Given the description of an element on the screen output the (x, y) to click on. 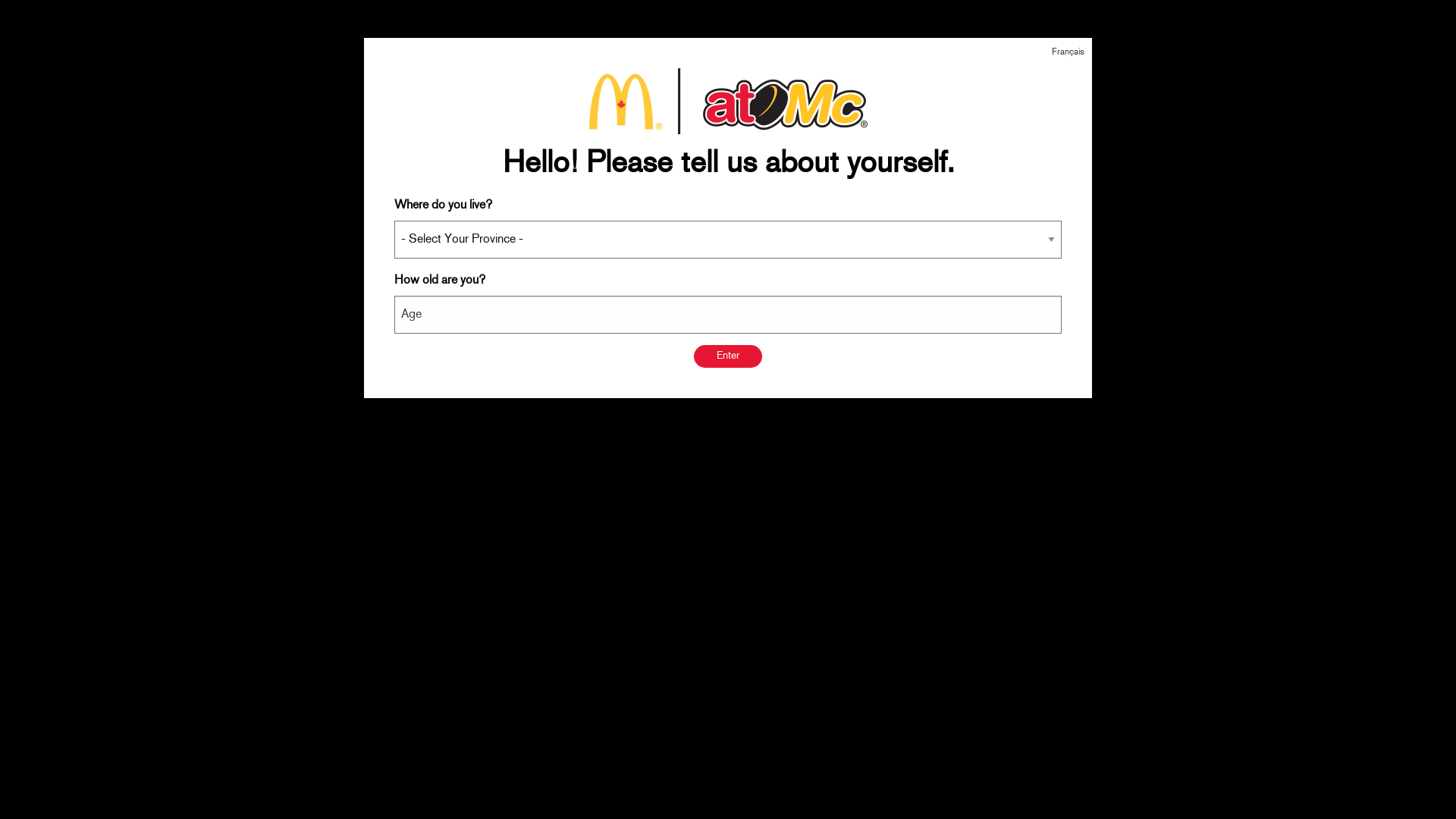
Enter Element type: text (727, 356)
